Given the description of an element on the screen output the (x, y) to click on. 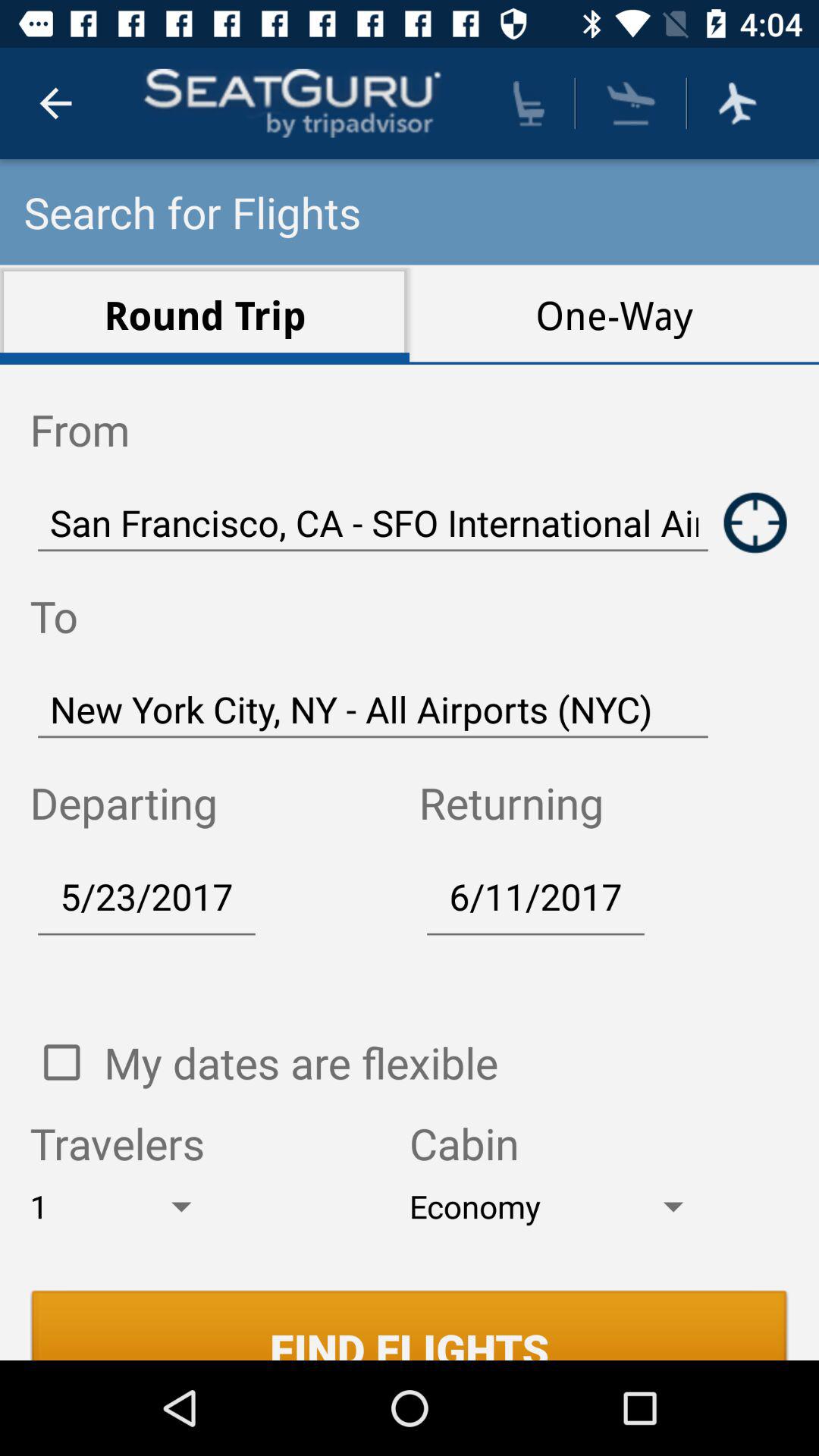
scroll to the round trip icon (204, 314)
